Given the description of an element on the screen output the (x, y) to click on. 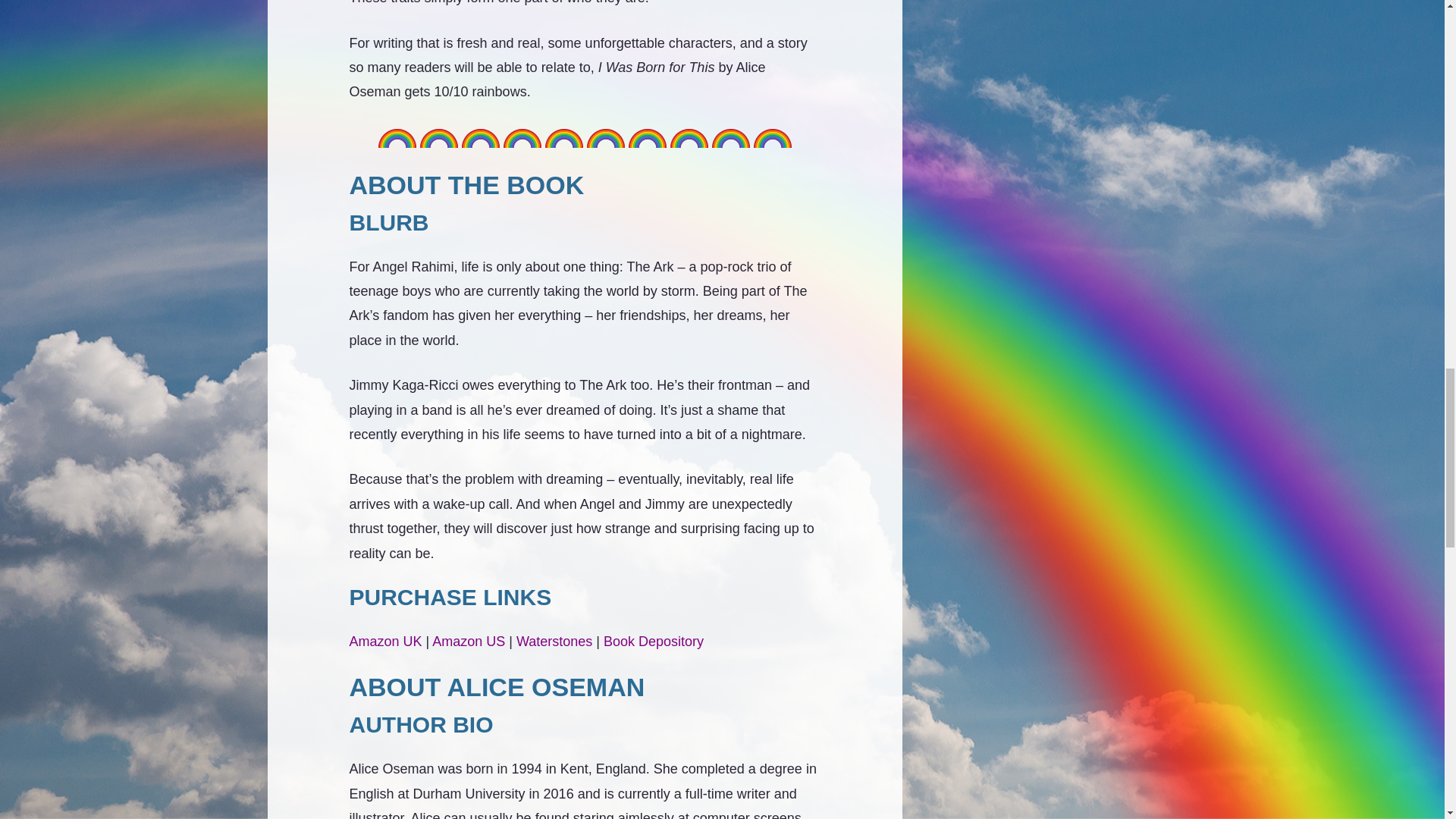
Book Depository (653, 641)
Amazon US (468, 641)
Waterstones (554, 641)
Amazon UK (385, 641)
